Given the description of an element on the screen output the (x, y) to click on. 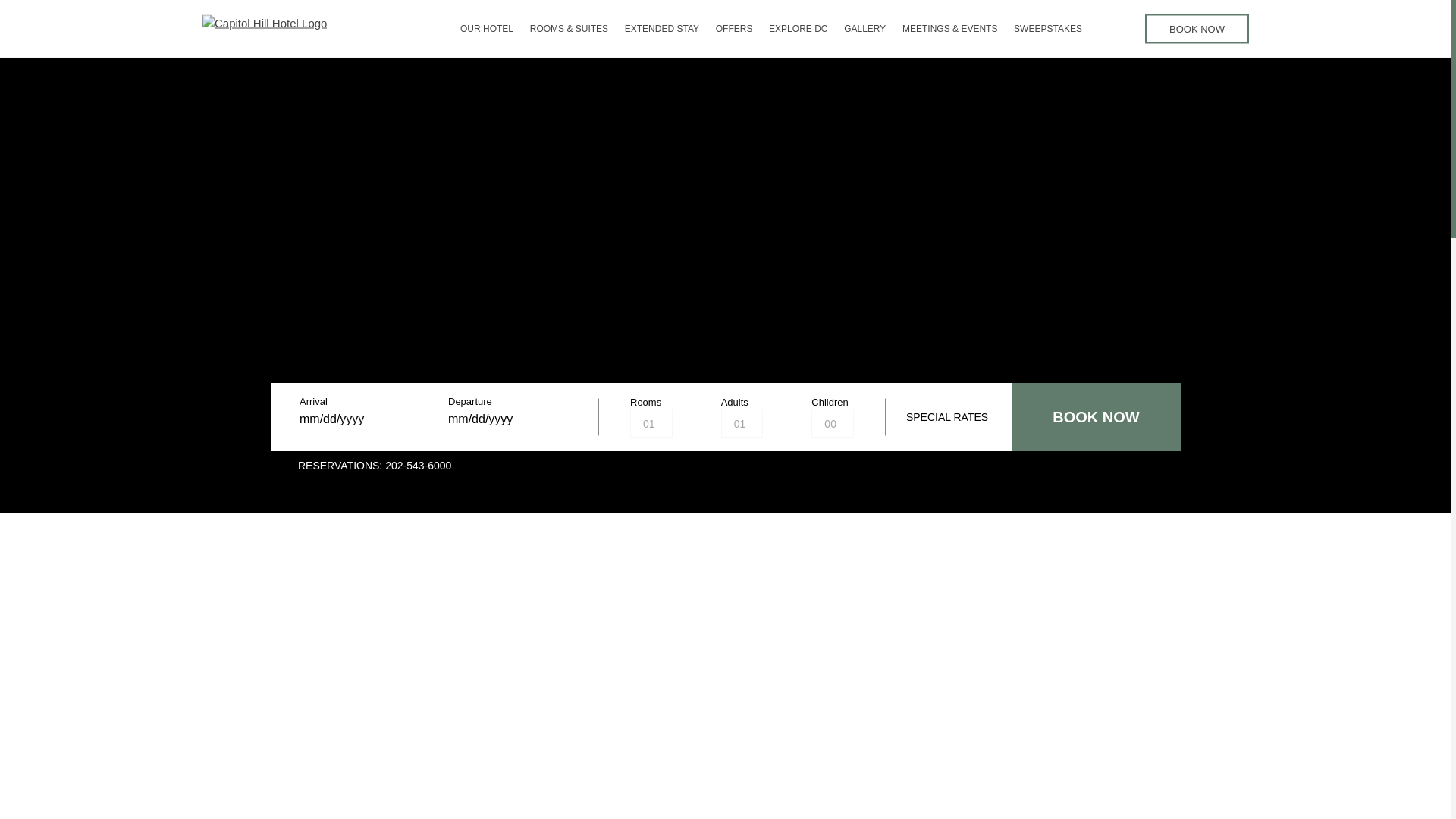
OUR HOTEL (486, 28)
Book Now (1095, 417)
Capitol Hill Hotel (264, 28)
SWEEPSTAKES (1047, 28)
Link to Virtual Tour (1113, 28)
BOOK NOW (1196, 28)
EXPLORE DC (797, 28)
EXTENDED STAY (661, 28)
